Given the description of an element on the screen output the (x, y) to click on. 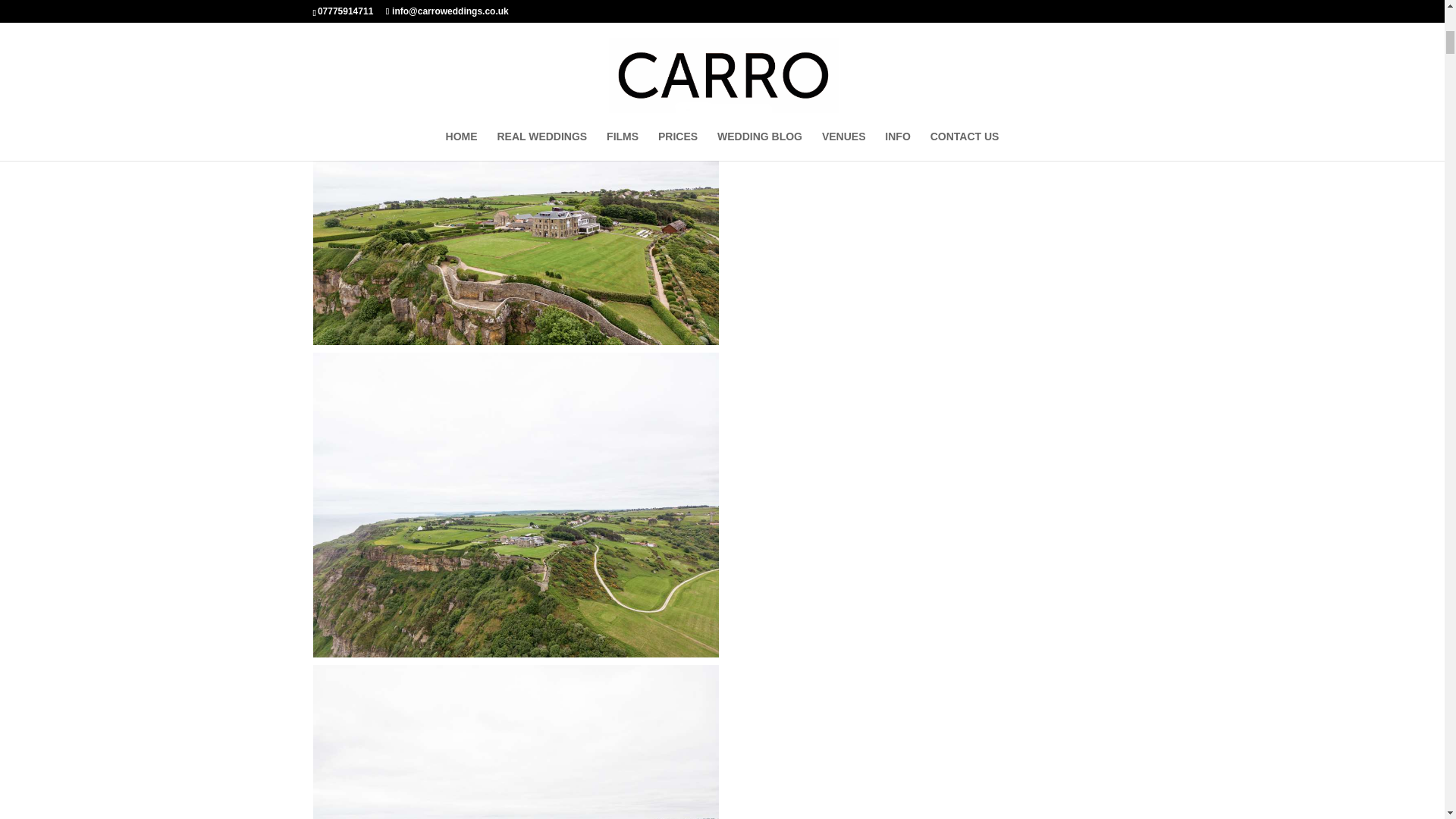
080623 Ayya and Elen Raven Hall Photos Socials Web-1 (515, 16)
080623 Ayya and Elen Raven Hall Photos Socials Web-4 (515, 742)
080623 Ayya and Elen Raven Hall Photos Socials Web-3 (515, 504)
080623 Ayya and Elen Raven Hall Photos Socials Web-2 (515, 192)
